Given the description of an element on the screen output the (x, y) to click on. 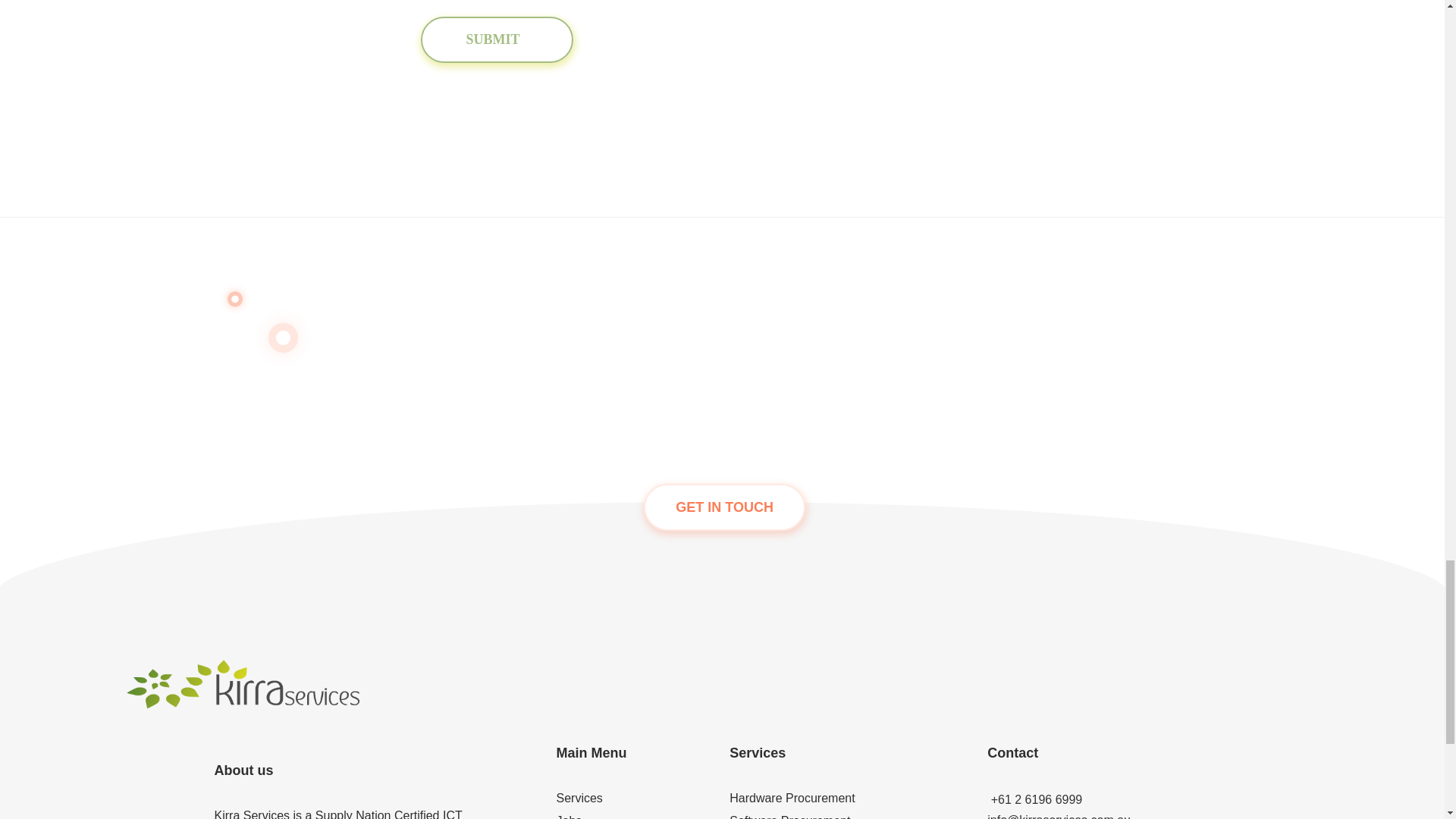
Submit (496, 39)
Cyber Security 13 (927, 119)
